Given the description of an element on the screen output the (x, y) to click on. 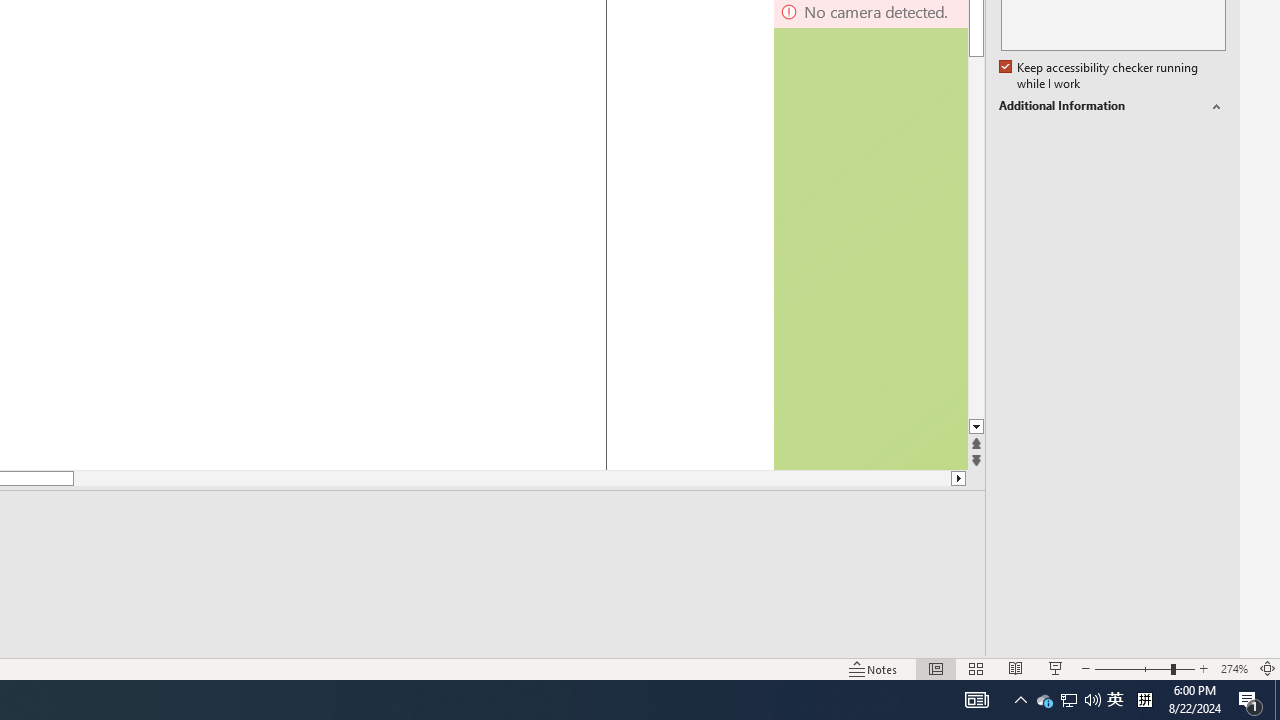
Zoom 274% (1234, 668)
IME Mode Icon - IME is disabled (1115, 699)
